Given the description of an element on the screen output the (x, y) to click on. 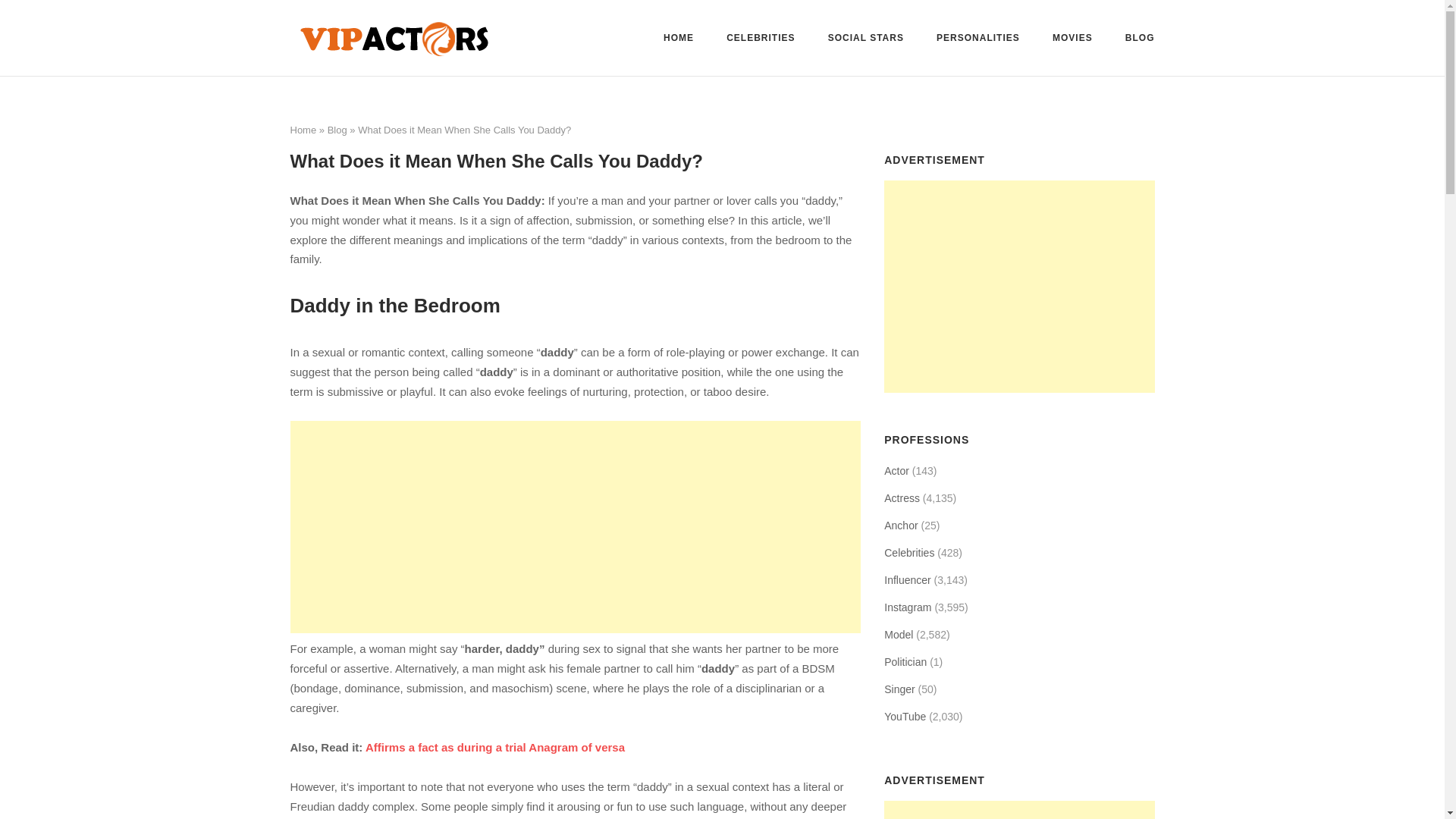
CELEBRITIES (760, 39)
PERSONALITIES (978, 39)
Actress (901, 497)
HOME (678, 40)
MOVIES (1072, 40)
Advertisement (1023, 286)
Model (897, 634)
Actor (895, 470)
Anchor (900, 525)
Blog (337, 129)
